Given the description of an element on the screen output the (x, y) to click on. 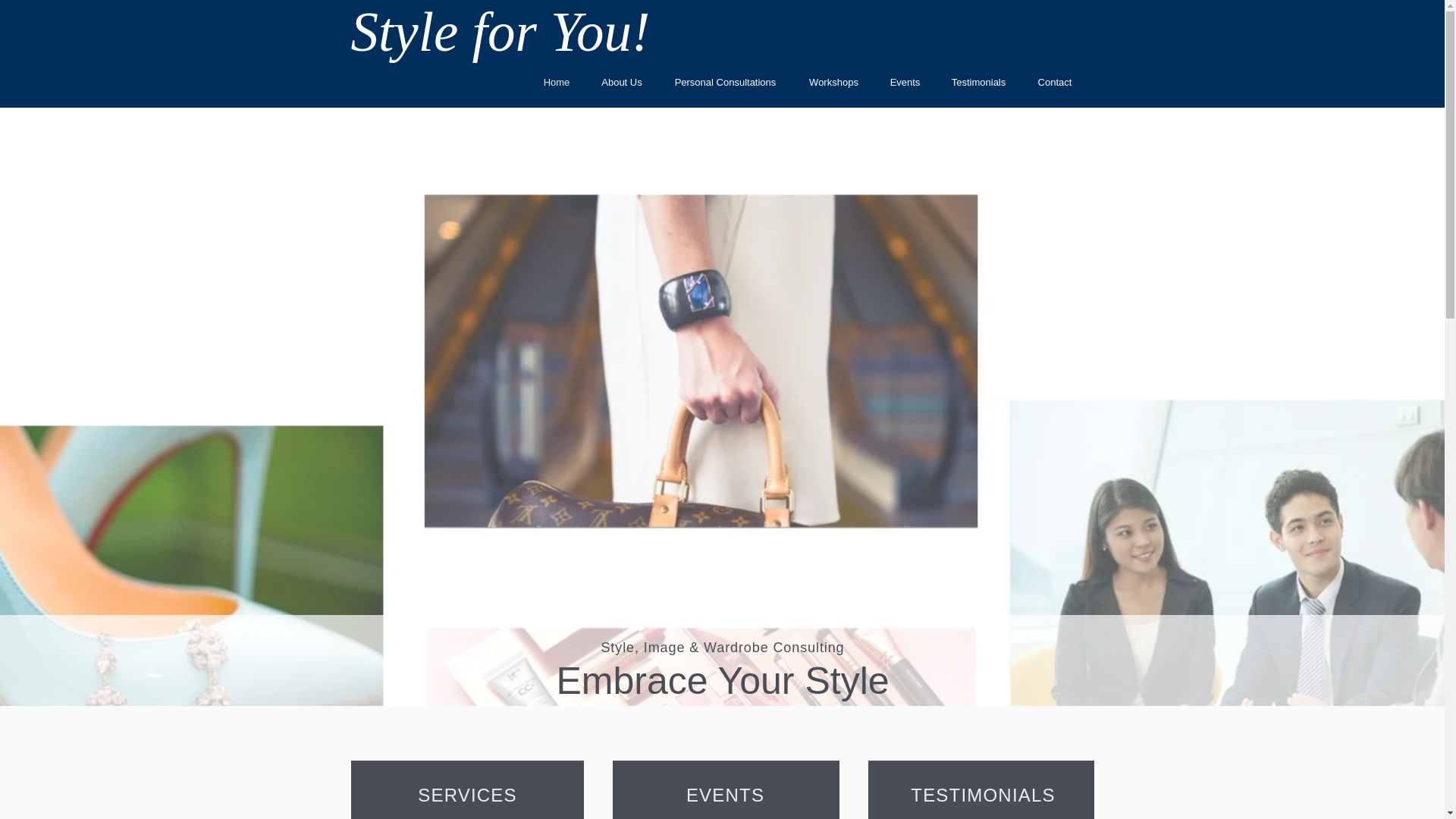
About Us (621, 81)
Personal Consultations (725, 81)
Events (905, 81)
Workshops (834, 81)
Contact (1054, 81)
Testimonials (979, 81)
Home (556, 81)
